Given the description of an element on the screen output the (x, y) to click on. 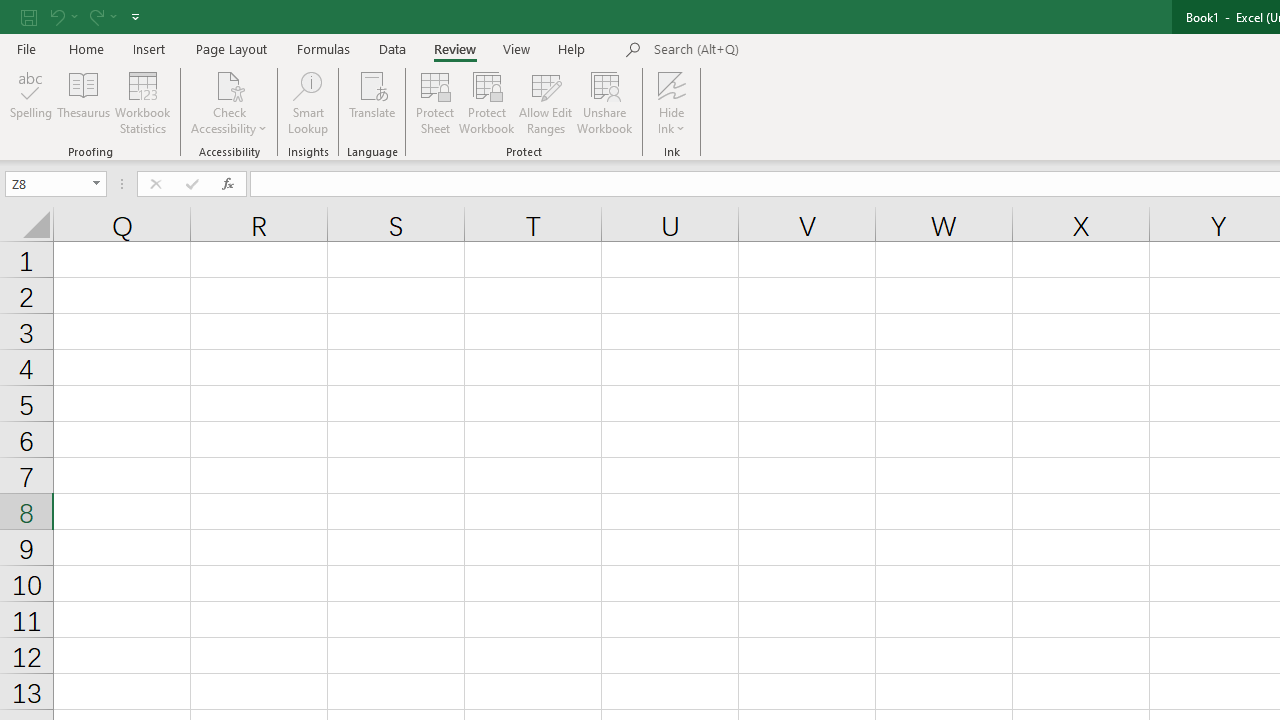
Protect Workbook... (486, 102)
Smart Lookup (308, 102)
